Given the description of an element on the screen output the (x, y) to click on. 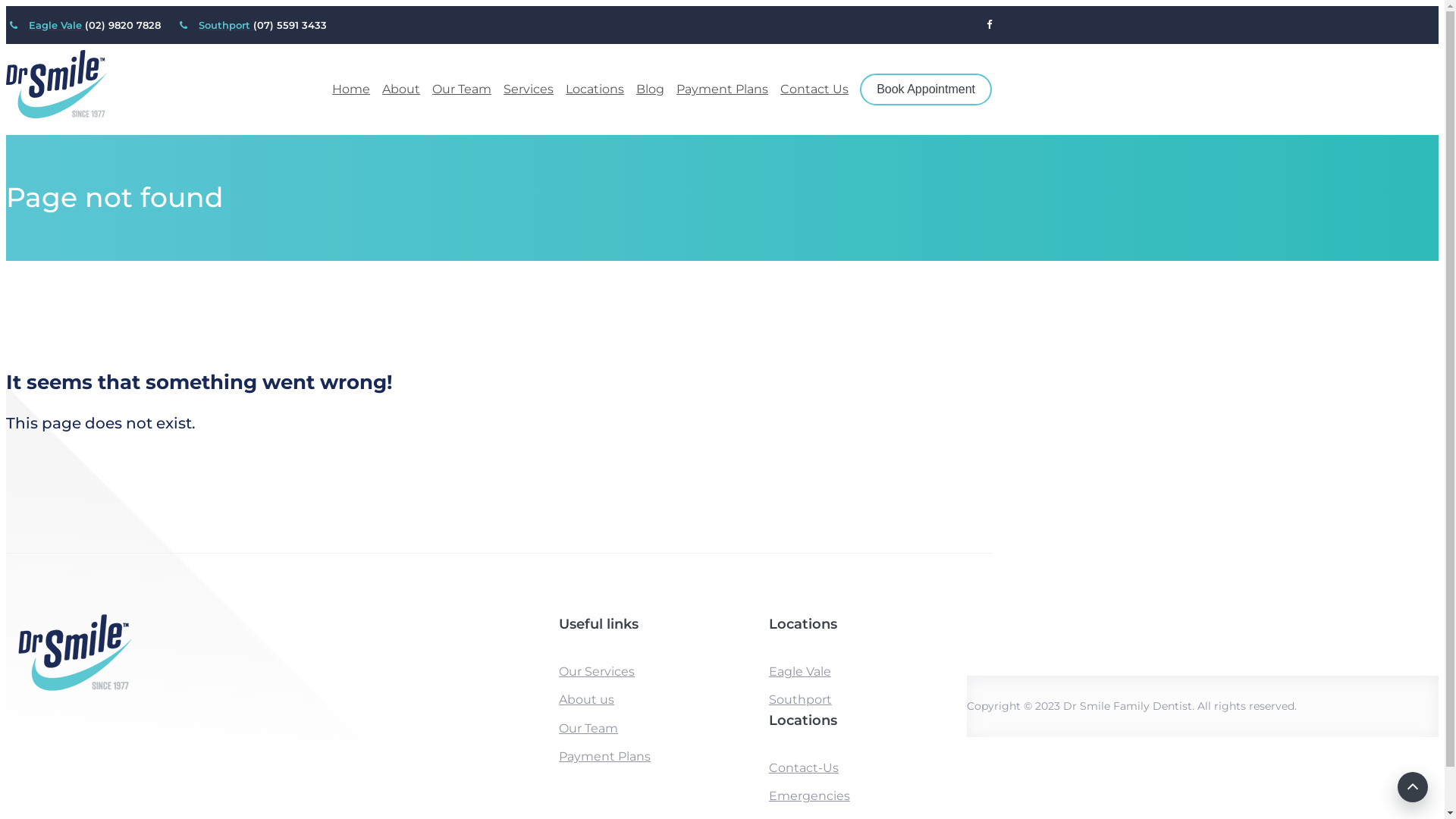
Services Element type: text (528, 89)
Contact-Us Element type: text (803, 767)
Our Team Element type: text (588, 728)
Emergencies Element type: text (809, 795)
Blog Element type: text (650, 89)
Scroll to top Element type: hover (1412, 786)
Payment Plans Element type: text (604, 756)
Our Team Element type: text (461, 89)
Eagle Vale Element type: text (56, 24)
Payment Plans Element type: text (721, 89)
About us Element type: text (586, 699)
Southport Element type: text (799, 699)
About Element type: text (400, 89)
Book Appointment Element type: text (925, 89)
Locations Element type: text (594, 89)
Home Element type: text (350, 89)
Eagle Vale Element type: text (799, 671)
Southport Element type: text (225, 24)
Our Services Element type: text (596, 671)
Contact Us Element type: text (814, 89)
